Given the description of an element on the screen output the (x, y) to click on. 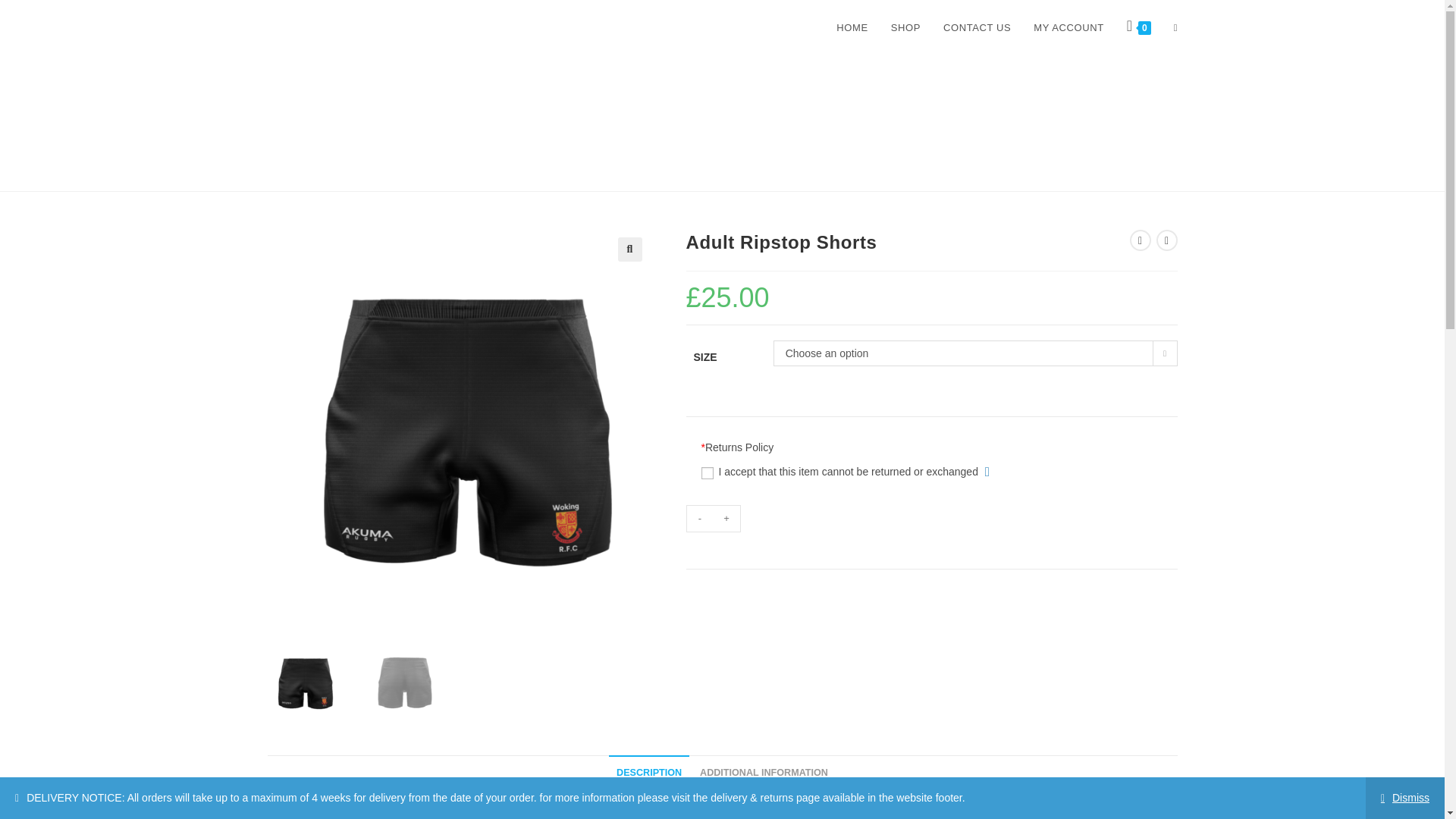
Adult Ripstop Shorts (749, 151)
- (699, 518)
CONTACT US (976, 28)
0 (1138, 28)
ADDITIONAL INFORMATION (764, 773)
MY ACCOUNT (1068, 28)
Shop (678, 151)
HOME (852, 28)
SHOP (905, 28)
DESCRIPTION (648, 773)
